Given the description of an element on the screen output the (x, y) to click on. 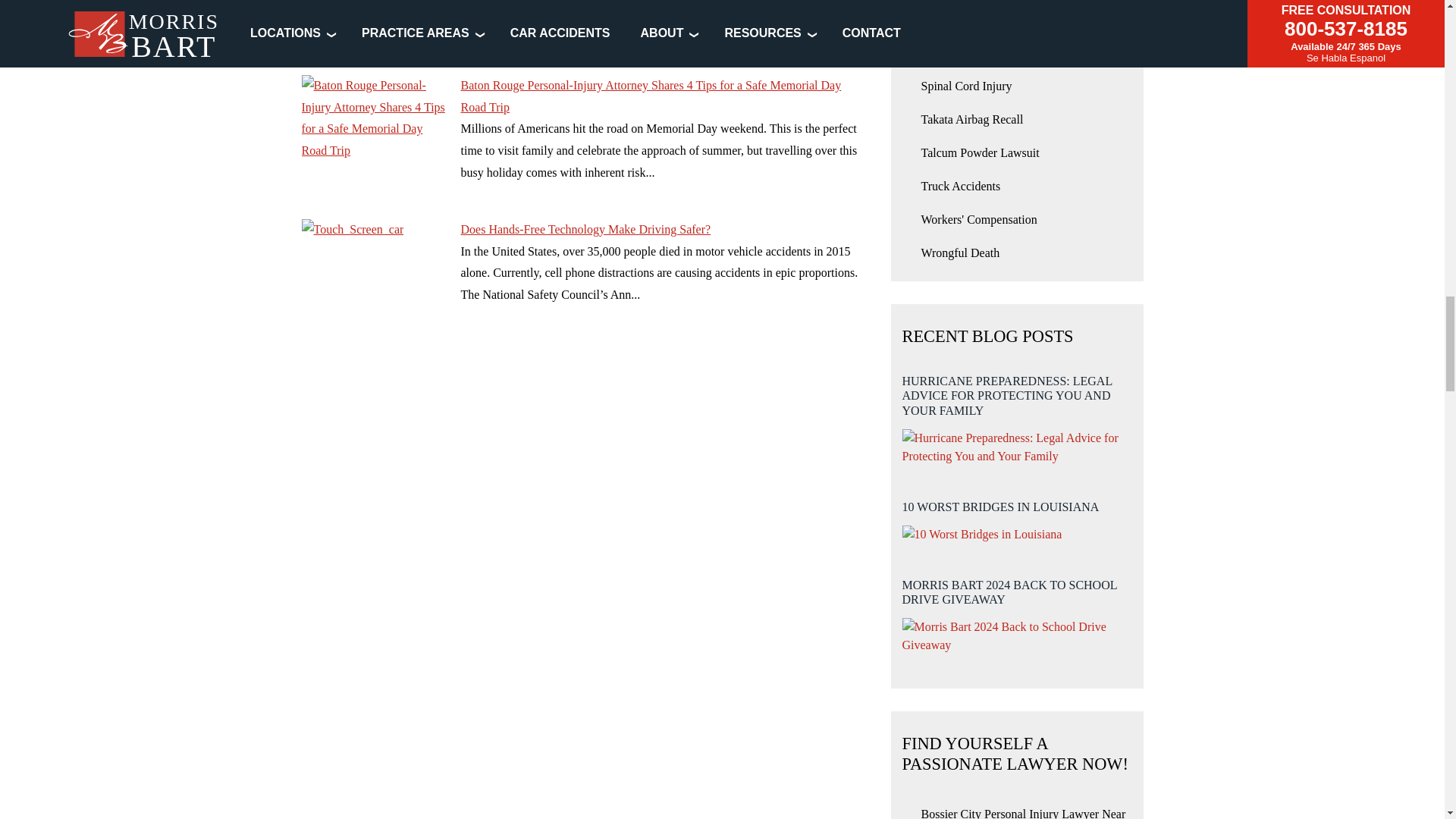
10 Worst Bridges in Louisiana (1017, 515)
Most Common Intentional Torts (373, 22)
Does Hands-Free Technology Make Driving Safer? (373, 275)
Morris Bart 2024 Back to School Drive Giveaway (1017, 636)
10 Worst Bridges in Louisiana (982, 534)
Morris Bart 2024 Back to School Drive Giveaway (1017, 610)
